Given the description of an element on the screen output the (x, y) to click on. 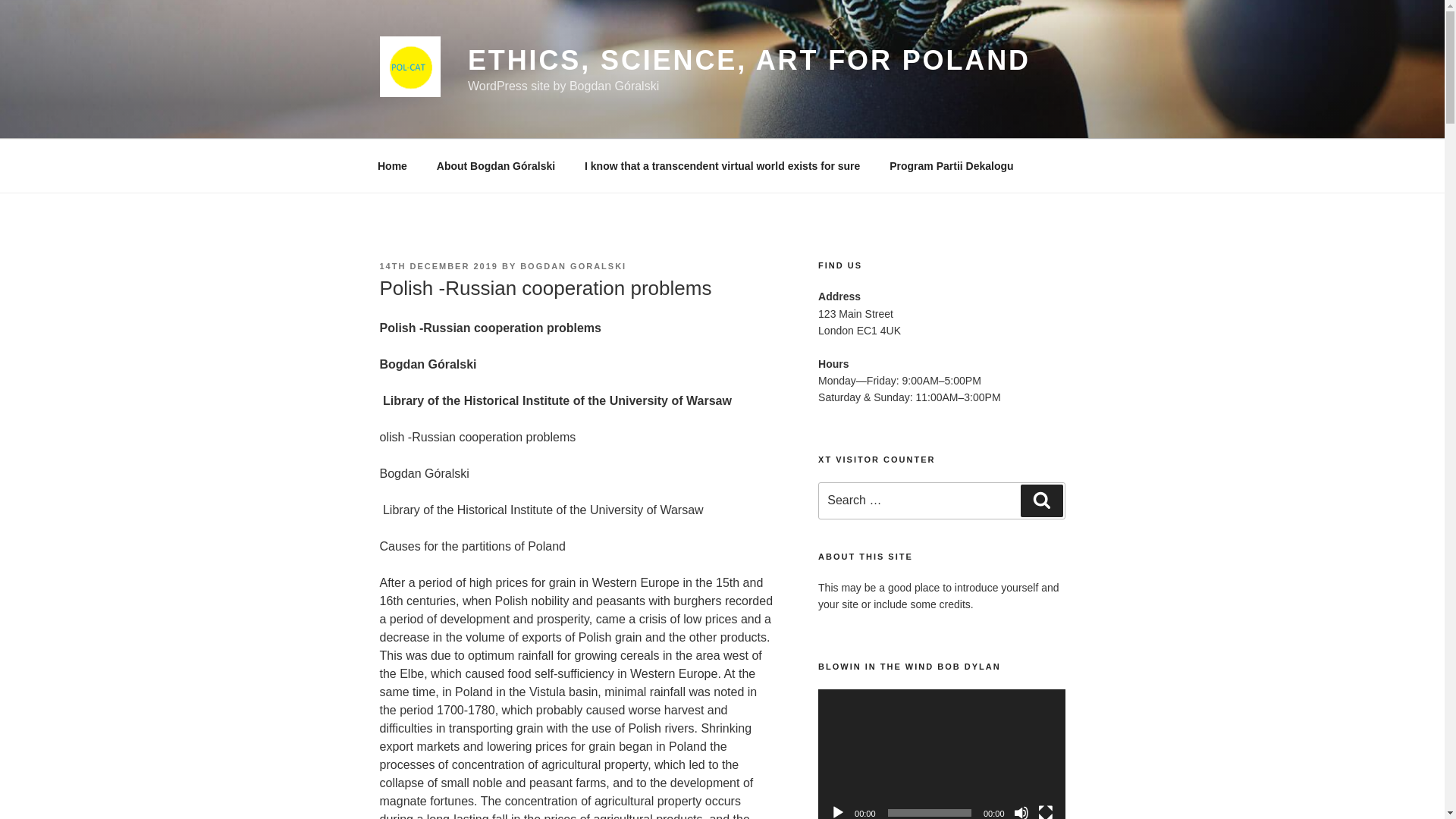
Search (1023, 445)
BOGDAN GORALSKI (572, 211)
Home (392, 110)
I know that a transcendent virtual world exists for sure (722, 110)
ETHICS, SCIENCE, ART FOR POLAND (748, 60)
14TH DECEMBER 2019 (437, 211)
Program Partii Dekalogu (951, 110)
